Given the description of an element on the screen output the (x, y) to click on. 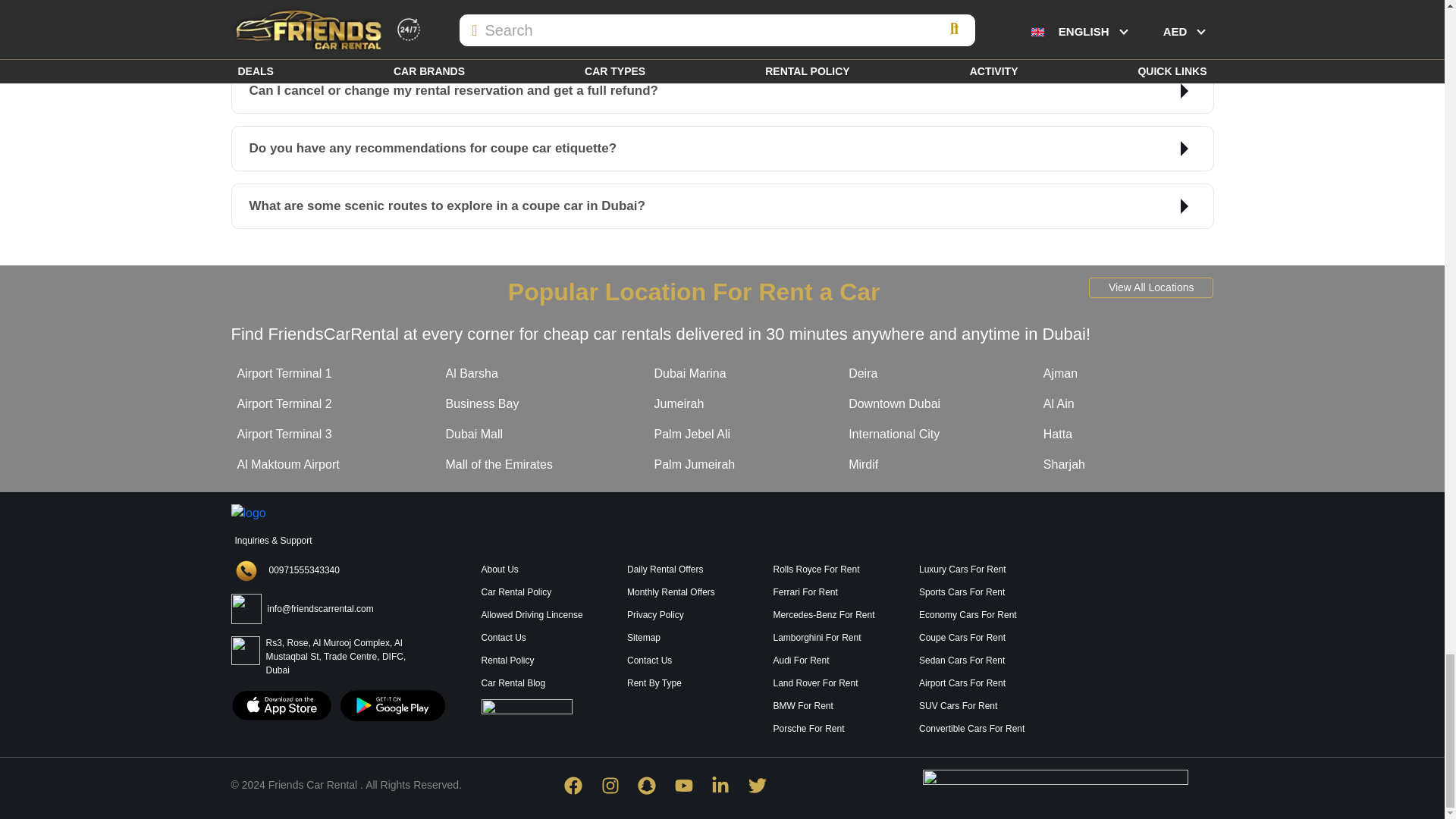
location (1138, 619)
